Given the description of an element on the screen output the (x, y) to click on. 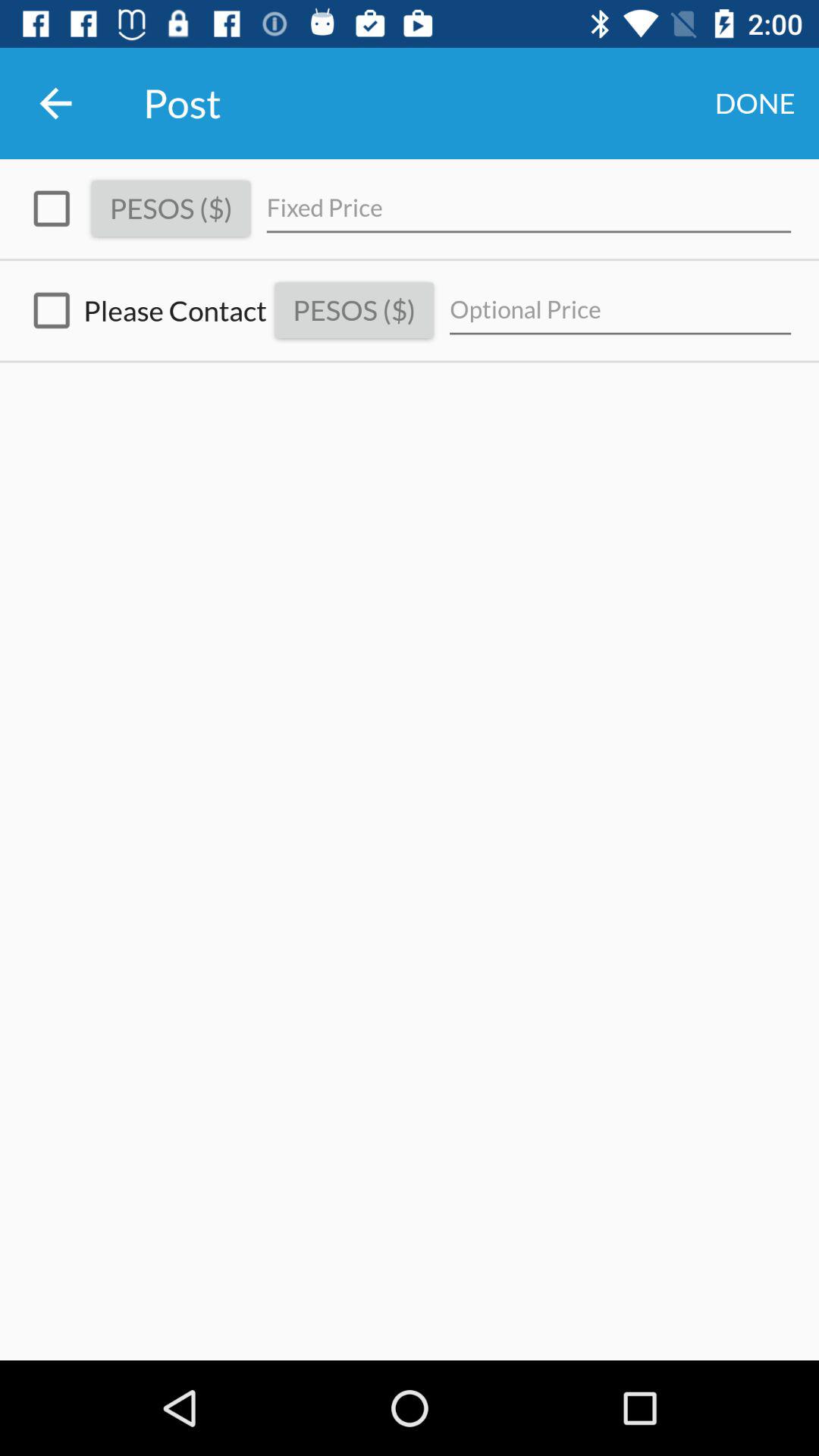
swipe to done icon (755, 103)
